Given the description of an element on the screen output the (x, y) to click on. 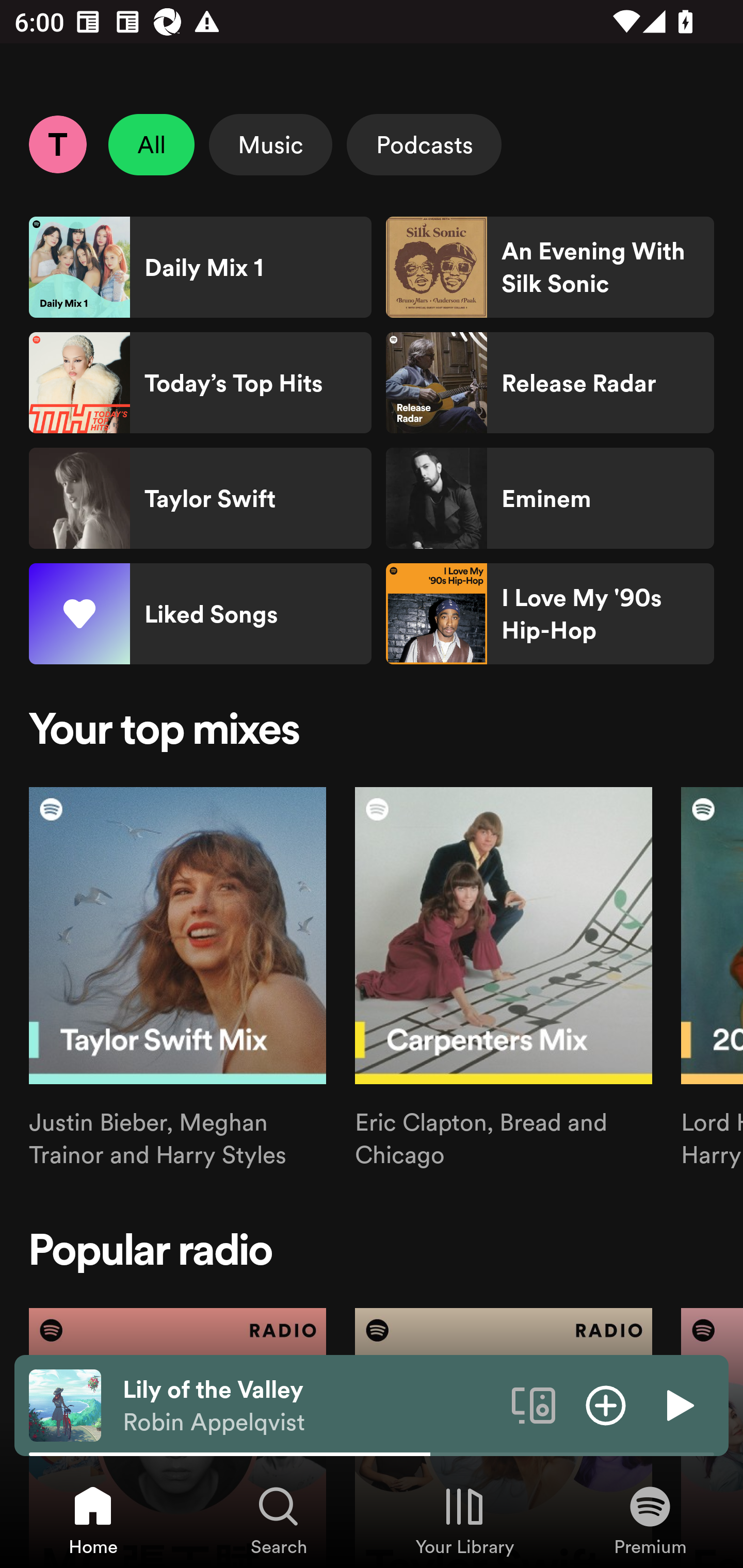
Profile (57, 144)
All Unselect All (151, 144)
Music Select Music (270, 144)
Podcasts Select Podcasts (423, 144)
Daily Mix 1 Shortcut Daily Mix 1 (199, 267)
Today’s Top Hits Shortcut Today’s Top Hits (199, 382)
Release Radar Shortcut Release Radar (549, 382)
Taylor Swift Shortcut Taylor Swift (199, 498)
Eminem Shortcut Eminem (549, 498)
Liked Songs Shortcut Liked Songs (199, 613)
Lily of the Valley Robin Appelqvist (309, 1405)
The cover art of the currently playing track (64, 1404)
Connect to a device. Opens the devices menu (533, 1404)
Add item (605, 1404)
Play (677, 1404)
Home, Tab 1 of 4 Home Home (92, 1519)
Search, Tab 2 of 4 Search Search (278, 1519)
Your Library, Tab 3 of 4 Your Library Your Library (464, 1519)
Premium, Tab 4 of 4 Premium Premium (650, 1519)
